Given the description of an element on the screen output the (x, y) to click on. 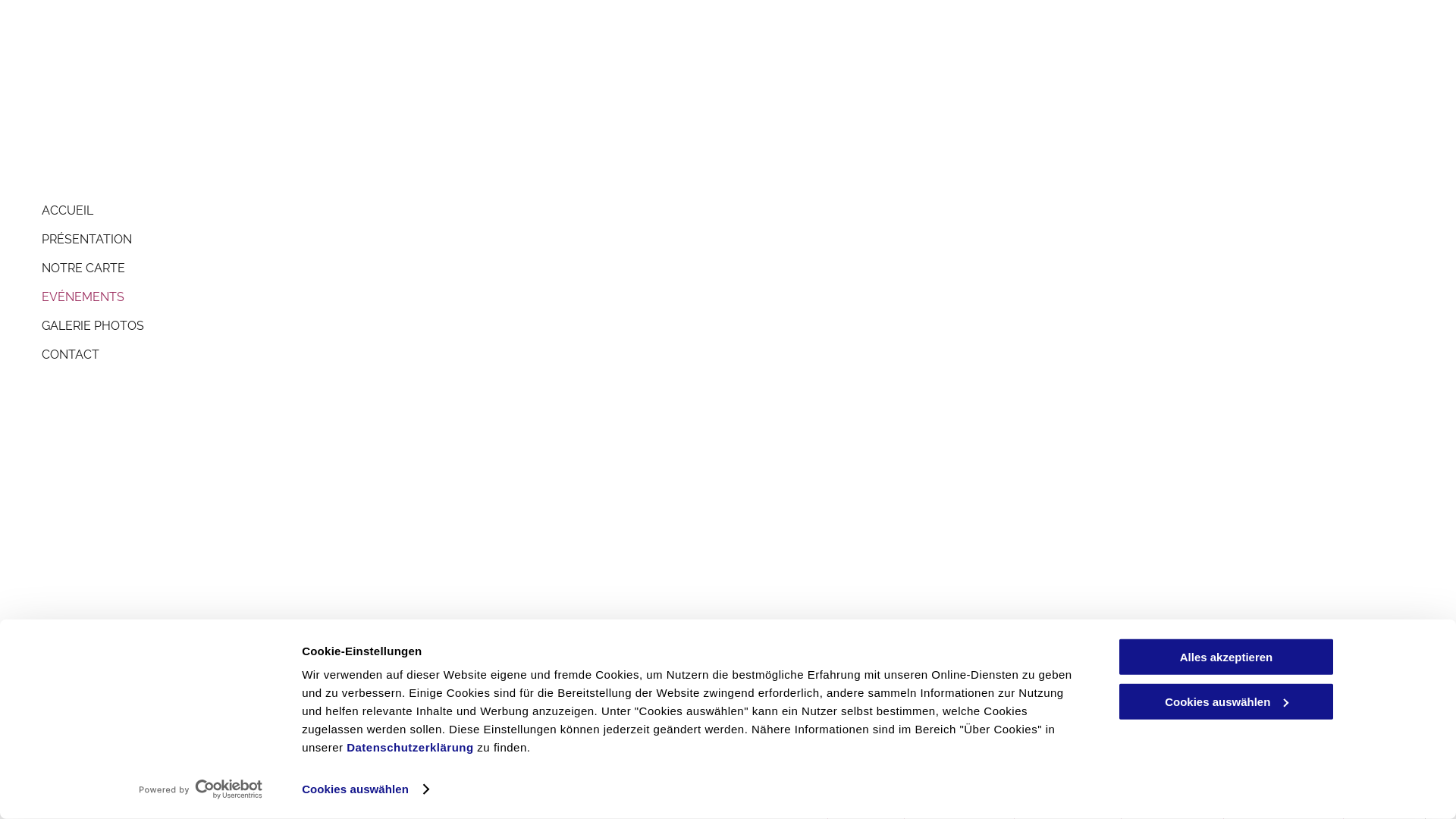
GALERIE PHOTOS Element type: text (405, 325)
Alles akzeptieren Element type: text (1225, 656)
ACCUEIL Element type: text (405, 210)
NOTRE CARTE Element type: text (405, 268)
CONTACT Element type: text (405, 354)
